Given the description of an element on the screen output the (x, y) to click on. 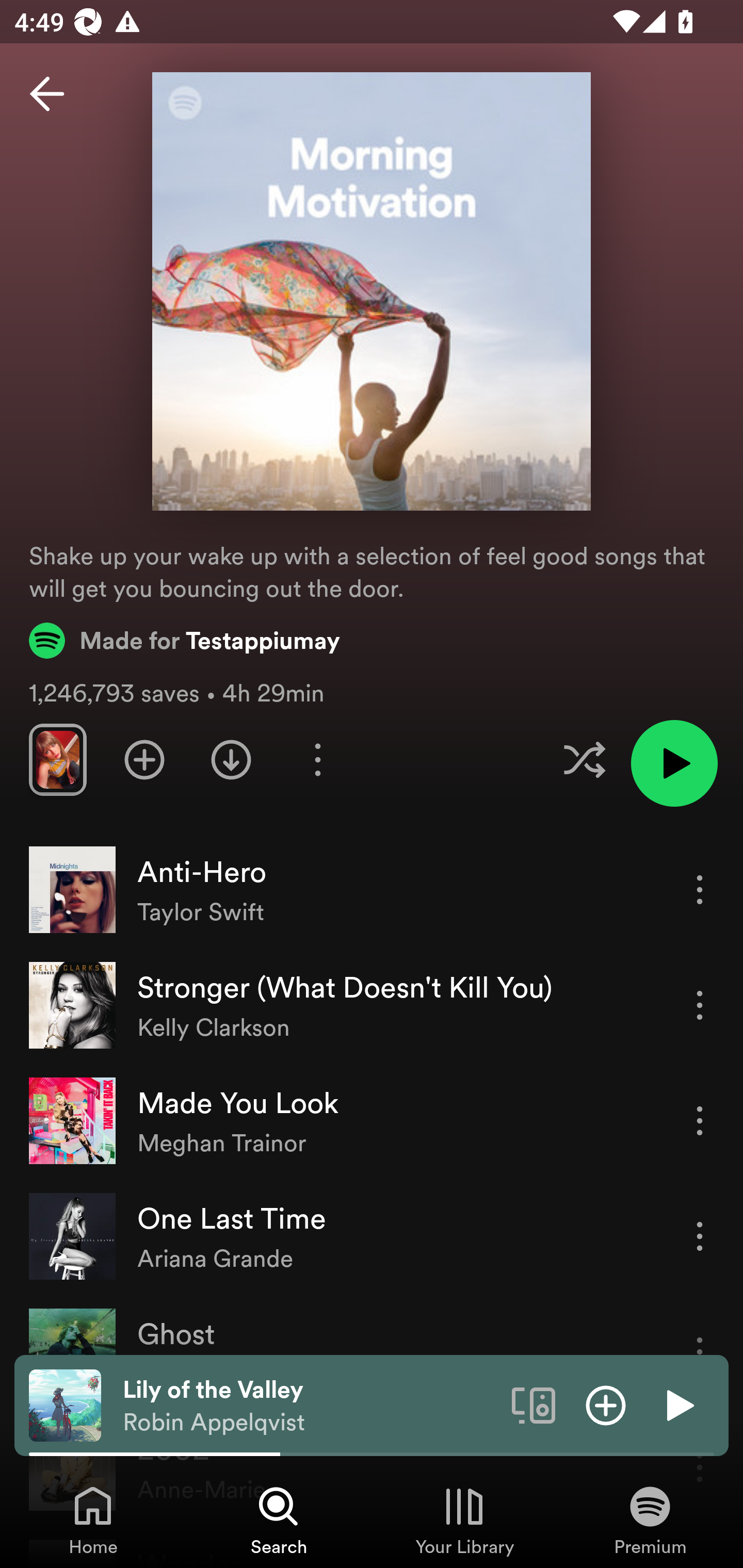
Back (46, 93)
Made for Testappiumay (184, 640)
Swipe through previews of tracks in this playlist. (57, 759)
Add playlist to Your Library (144, 759)
Download (230, 759)
More options for playlist Morning Motivation (317, 759)
Enable shuffle for this playlist (583, 759)
Play playlist (674, 763)
More options for song Anti-Hero (699, 889)
More options for song Made You Look (699, 1120)
More options for song One Last Time (699, 1236)
Ghost Justin Bieber More options for song Ghost (371, 1351)
Lily of the Valley Robin Appelqvist (309, 1405)
The cover art of the currently playing track (64, 1404)
Connect to a device. Opens the devices menu (533, 1404)
Add item (605, 1404)
Play (677, 1404)
Home, Tab 1 of 4 Home Home (92, 1519)
Search, Tab 2 of 4 Search Search (278, 1519)
Your Library, Tab 3 of 4 Your Library Your Library (464, 1519)
Premium, Tab 4 of 4 Premium Premium (650, 1519)
